Given the description of an element on the screen output the (x, y) to click on. 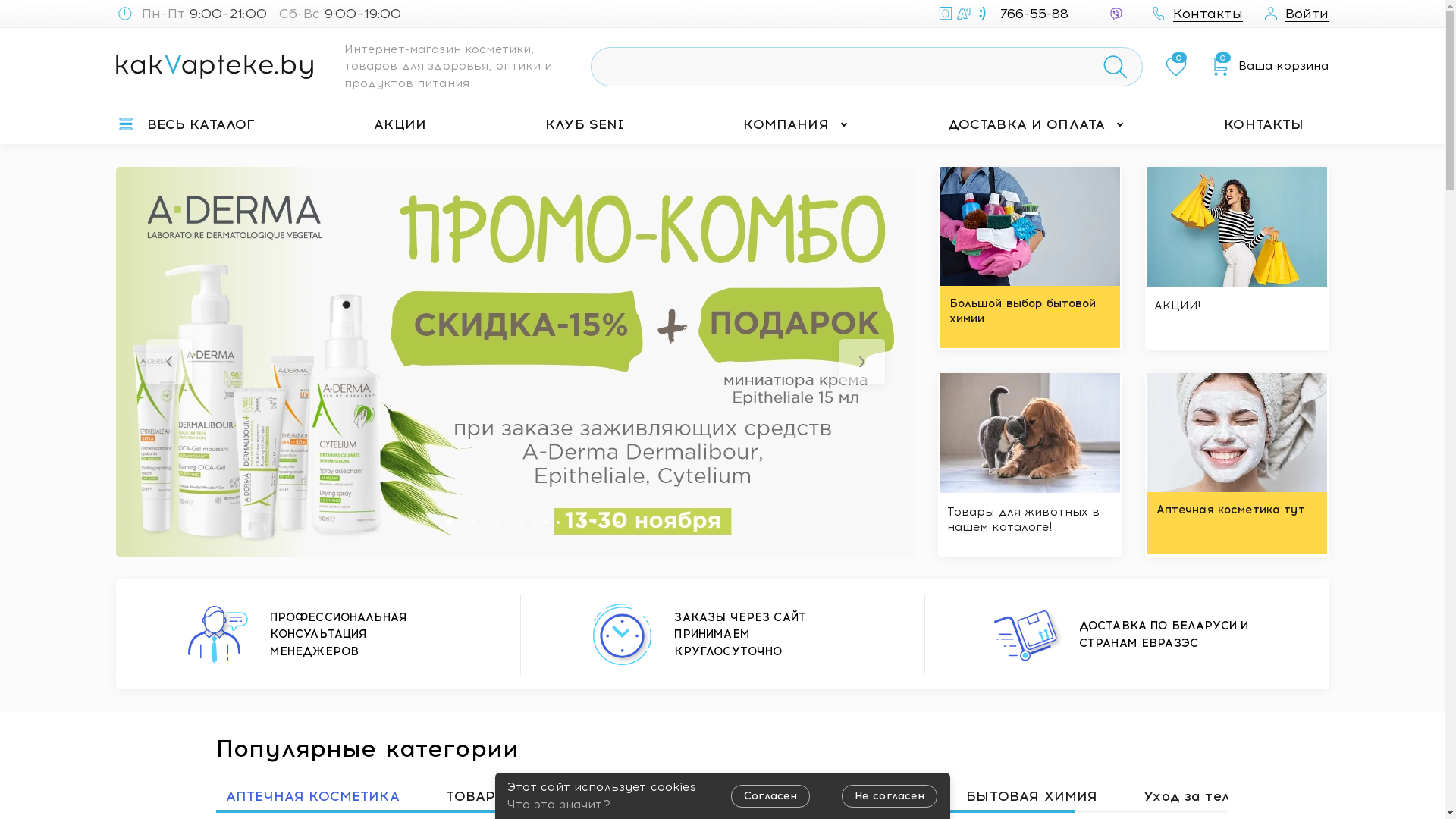
0 Element type: text (1175, 66)
766-55-88 Element type: text (1009, 13)
